Given the description of an element on the screen output the (x, y) to click on. 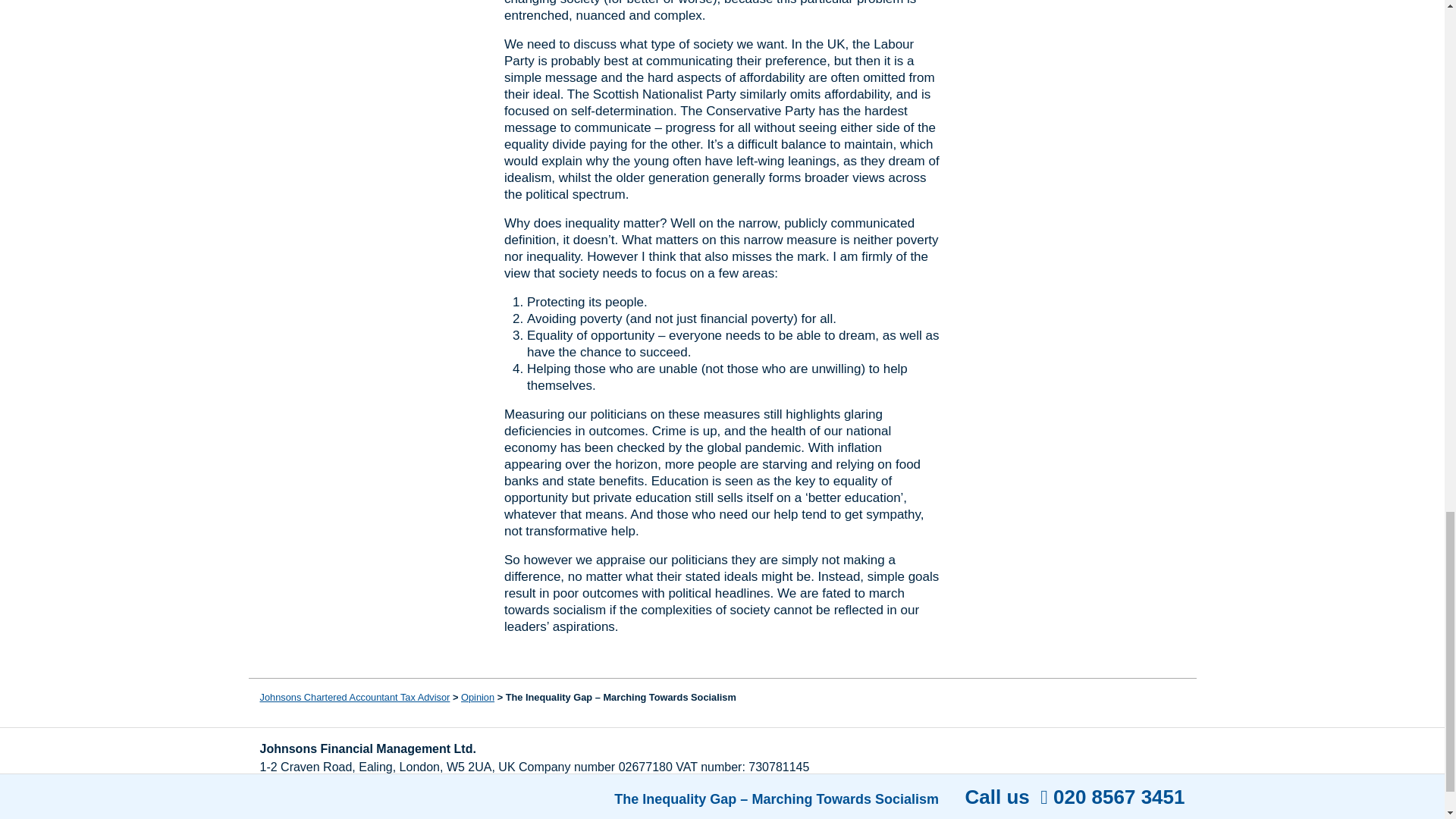
Go to the Opinion Category archives. (478, 696)
Privacy Policy (426, 797)
Go to Johnsons Chartered Accountant Tax Advisor. (354, 696)
Johnsons Chartered Accountant Tax Advisor (354, 696)
Opinion (478, 696)
Sitemap (499, 797)
